Given the description of an element on the screen output the (x, y) to click on. 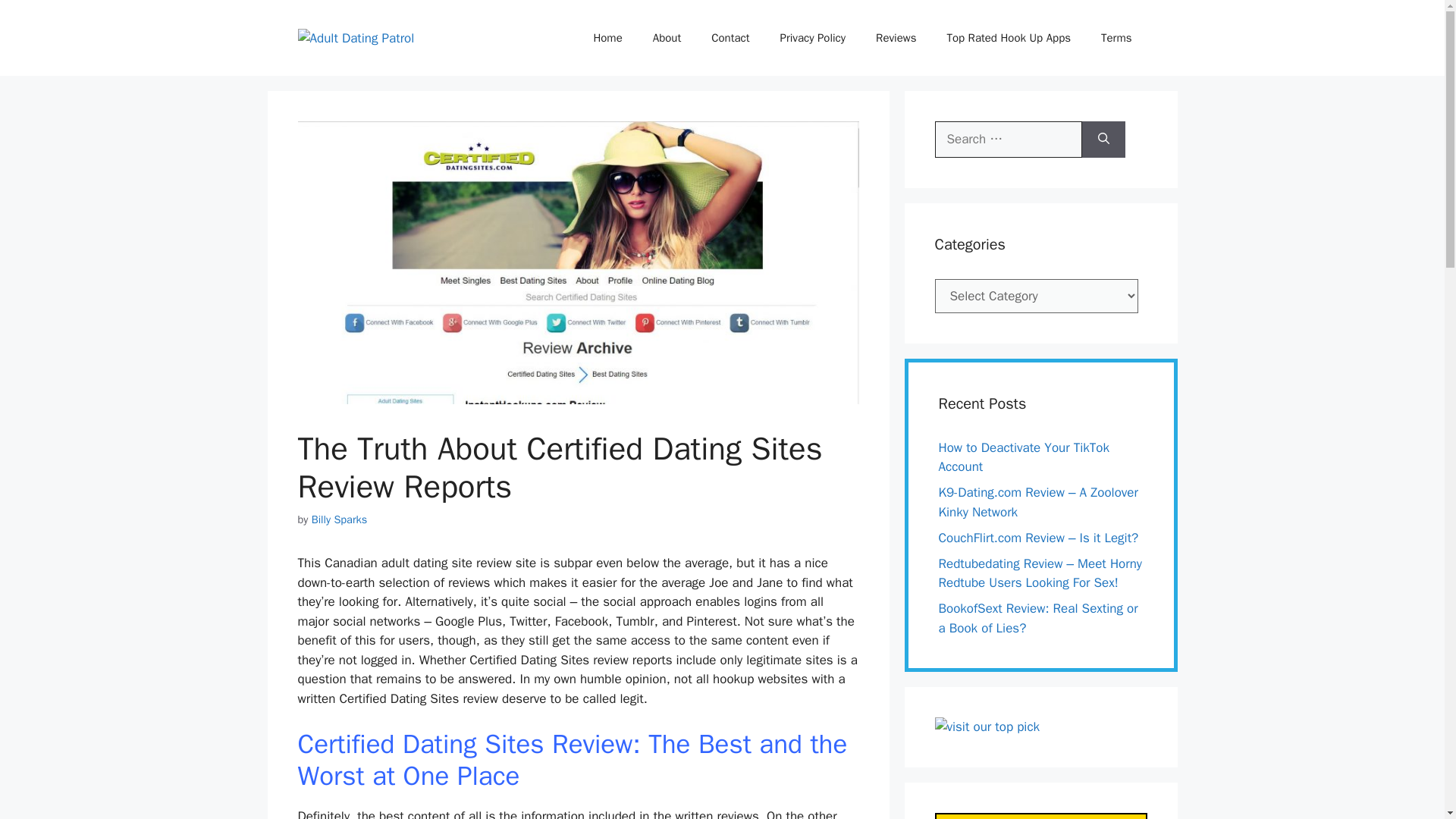
Home (607, 37)
Reviews (895, 37)
Billy Sparks (339, 519)
Privacy Policy (813, 37)
Top Rated Hook Up Apps (1008, 37)
Terms (1116, 37)
Contact (729, 37)
BookofSext Review: Real Sexting or a Book of Lies? (1038, 618)
About (666, 37)
View all posts by Billy Sparks (339, 519)
